Given the description of an element on the screen output the (x, y) to click on. 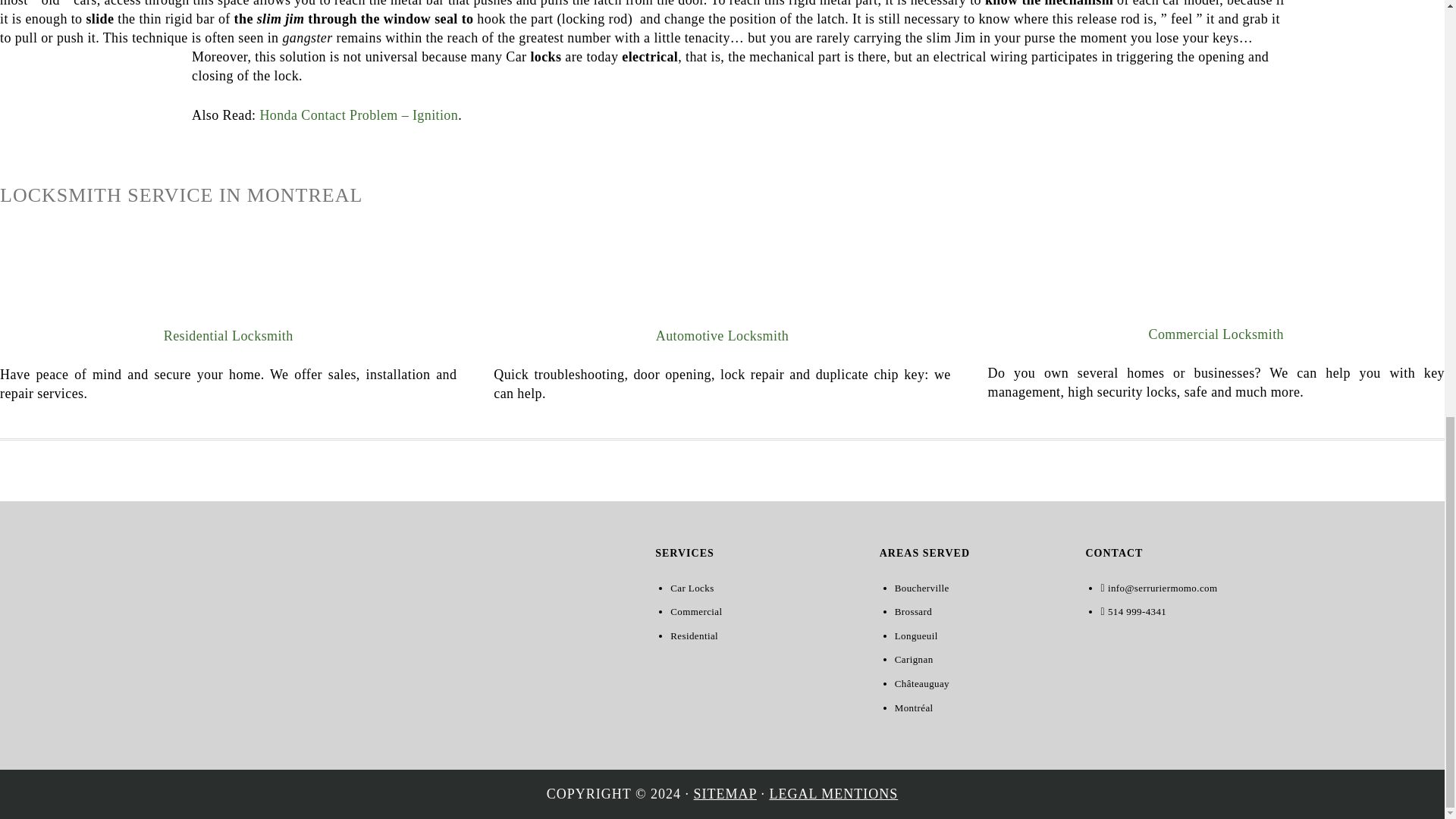
legal mentions (833, 793)
Residential Locksmith (228, 335)
Sitemap (725, 793)
